Given the description of an element on the screen output the (x, y) to click on. 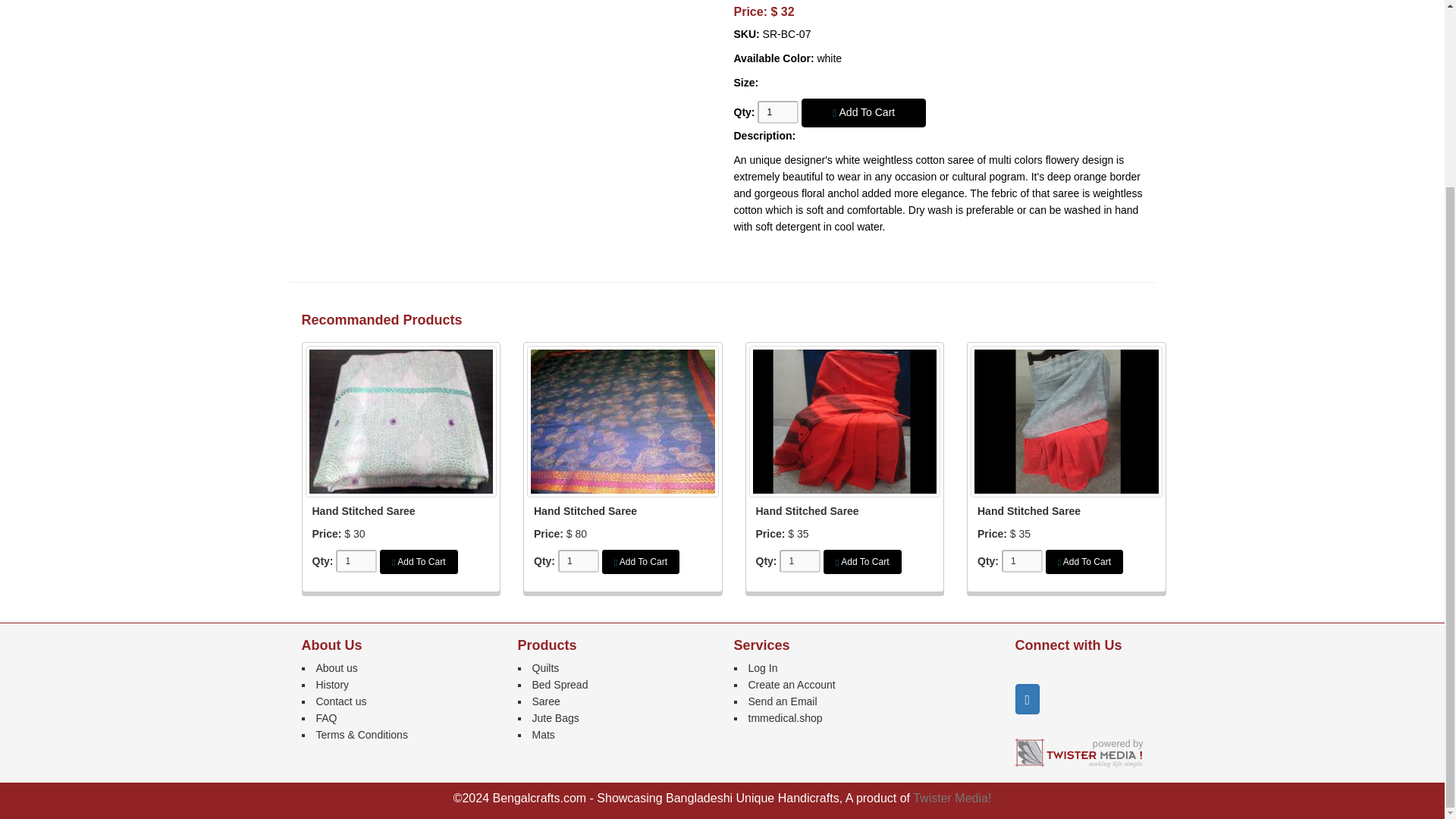
1 (799, 560)
1 (1021, 560)
1 (356, 560)
1 (577, 560)
1 (777, 111)
